Given the description of an element on the screen output the (x, y) to click on. 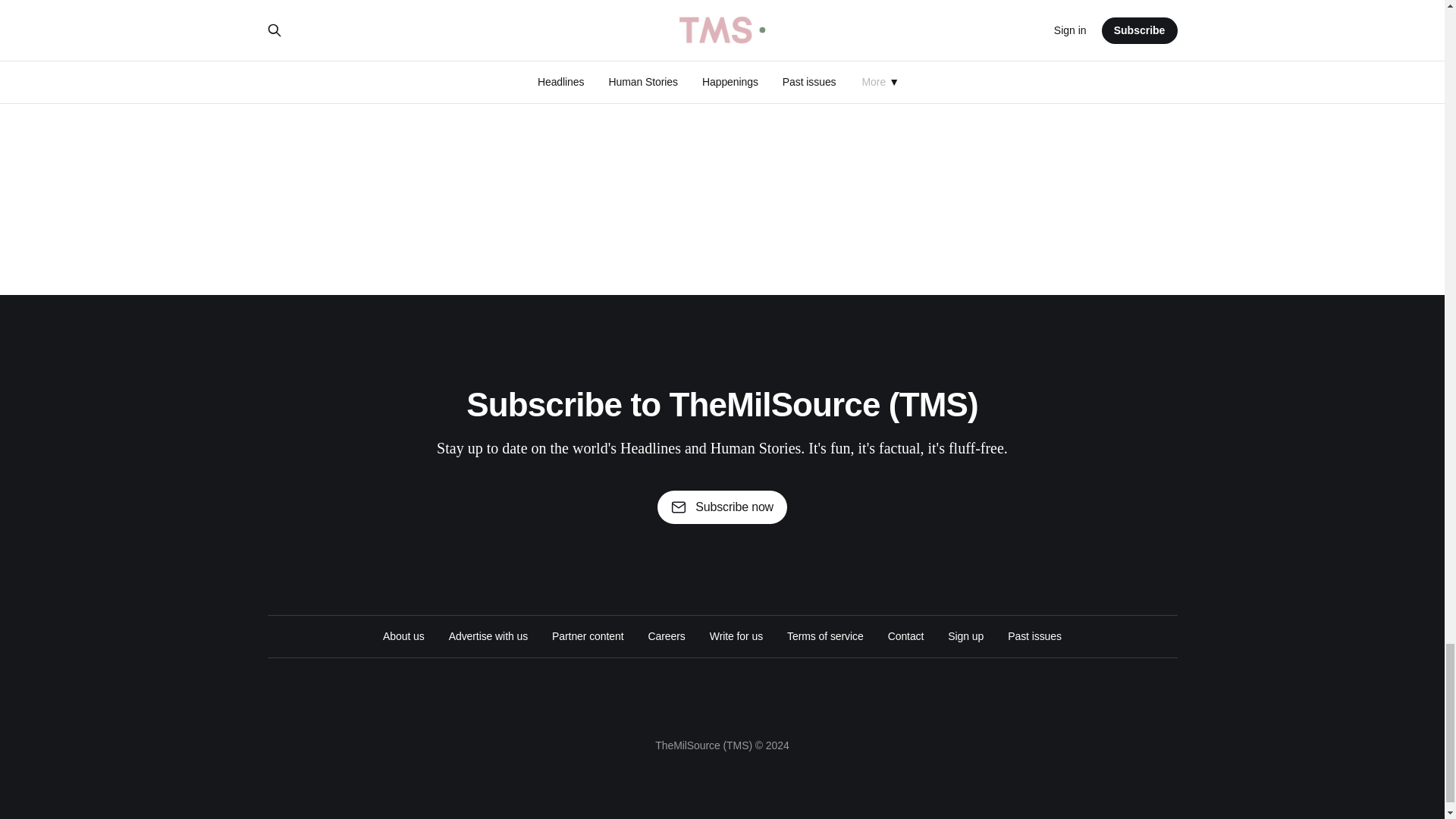
comments-frame (721, 103)
